Given the description of an element on the screen output the (x, y) to click on. 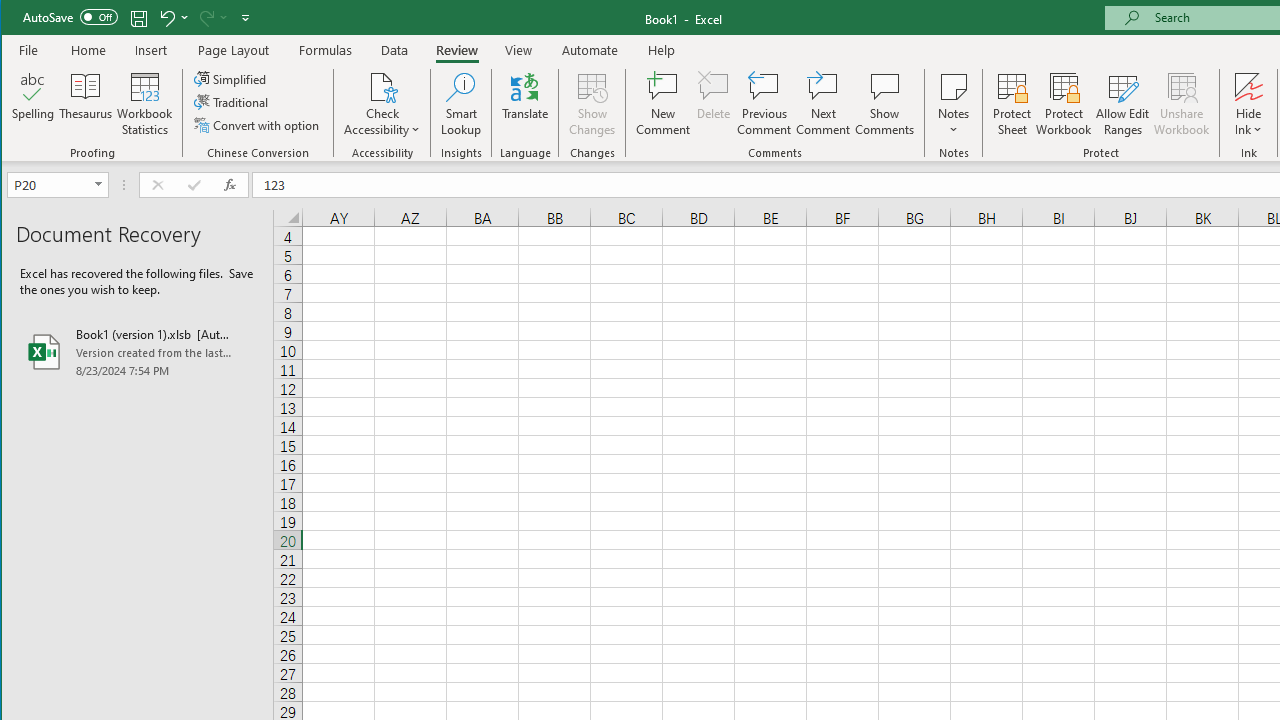
Protect Workbook... (1064, 104)
Data (395, 50)
Automate (589, 50)
Customize Quick Access Toolbar (245, 17)
Home (88, 50)
Traditional (232, 101)
File Tab (29, 49)
Allow Edit Ranges (1123, 104)
System (19, 18)
Show Changes (592, 104)
AutoSave (70, 16)
Name Box (57, 184)
Protect Sheet... (1012, 104)
Translate (525, 104)
Delete (713, 104)
